Given the description of an element on the screen output the (x, y) to click on. 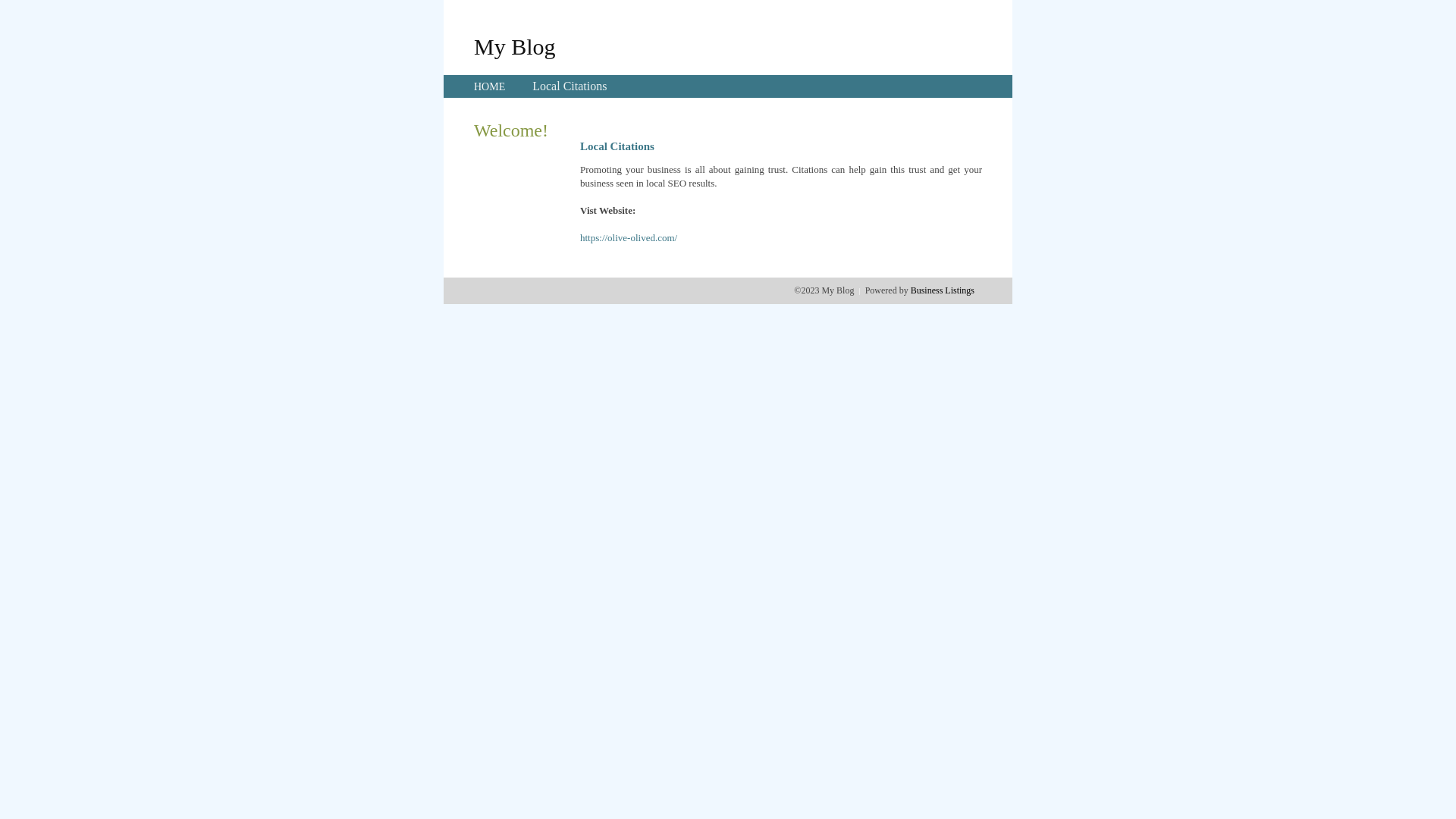
My Blog Element type: text (514, 46)
https://olive-olived.com/ Element type: text (628, 237)
Business Listings Element type: text (942, 290)
HOME Element type: text (489, 86)
Local Citations Element type: text (569, 85)
